Given the description of an element on the screen output the (x, y) to click on. 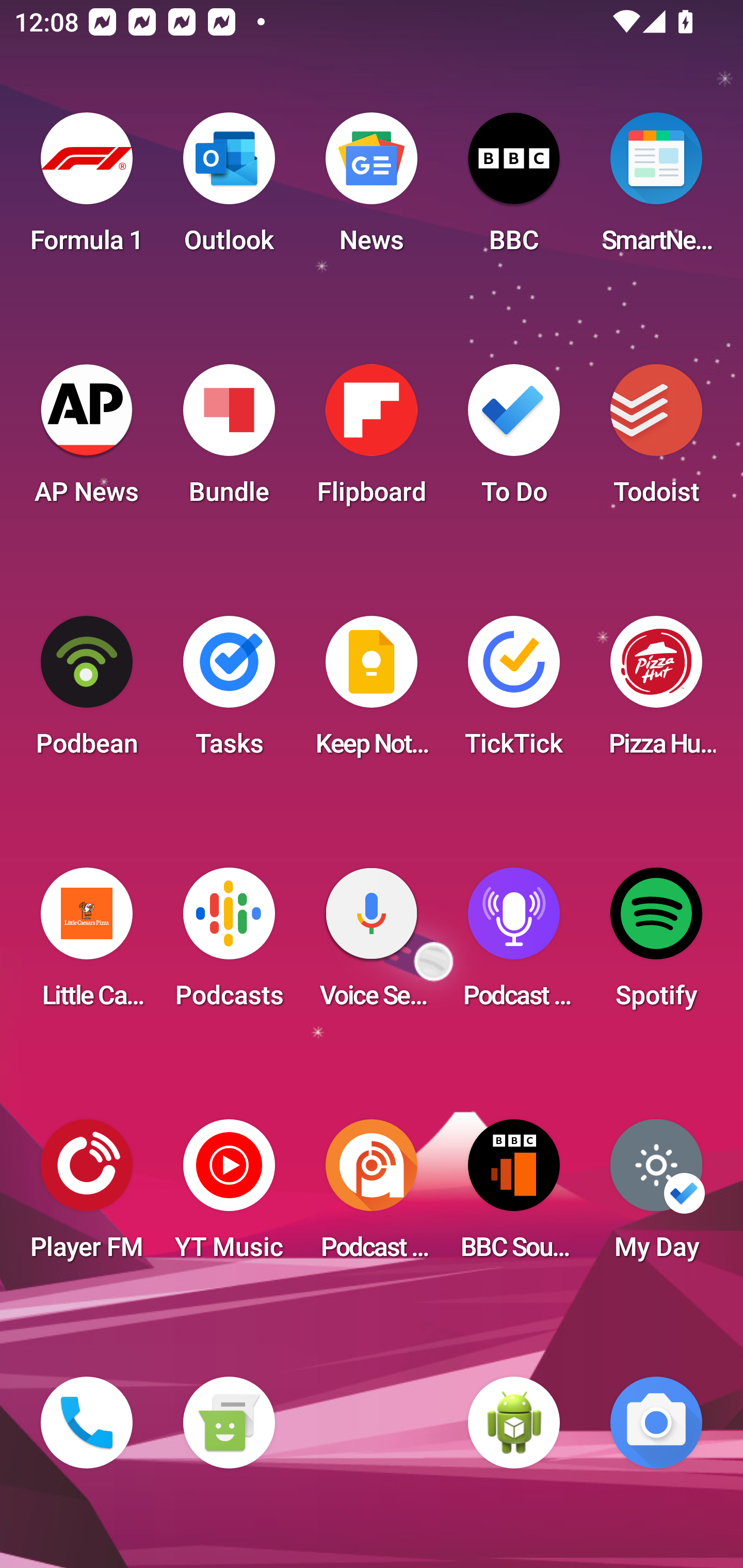
Formula 1 (86, 188)
Outlook (228, 188)
News (371, 188)
BBC (513, 188)
SmartNews (656, 188)
AP News (86, 440)
Bundle (228, 440)
Flipboard (371, 440)
To Do (513, 440)
Todoist (656, 440)
Podbean (86, 692)
Tasks (228, 692)
Keep Notes (371, 692)
TickTick (513, 692)
Pizza Hut HK & Macau (656, 692)
Little Caesars Pizza (86, 943)
Podcasts (228, 943)
Voice Search (371, 943)
Podcast Player (513, 943)
Spotify (656, 943)
Player FM (86, 1195)
YT Music (228, 1195)
Podcast Addict (371, 1195)
BBC Sounds (513, 1195)
My Day (656, 1195)
Phone (86, 1422)
Messaging (228, 1422)
WebView Browser Tester (513, 1422)
Camera (656, 1422)
